Given the description of an element on the screen output the (x, y) to click on. 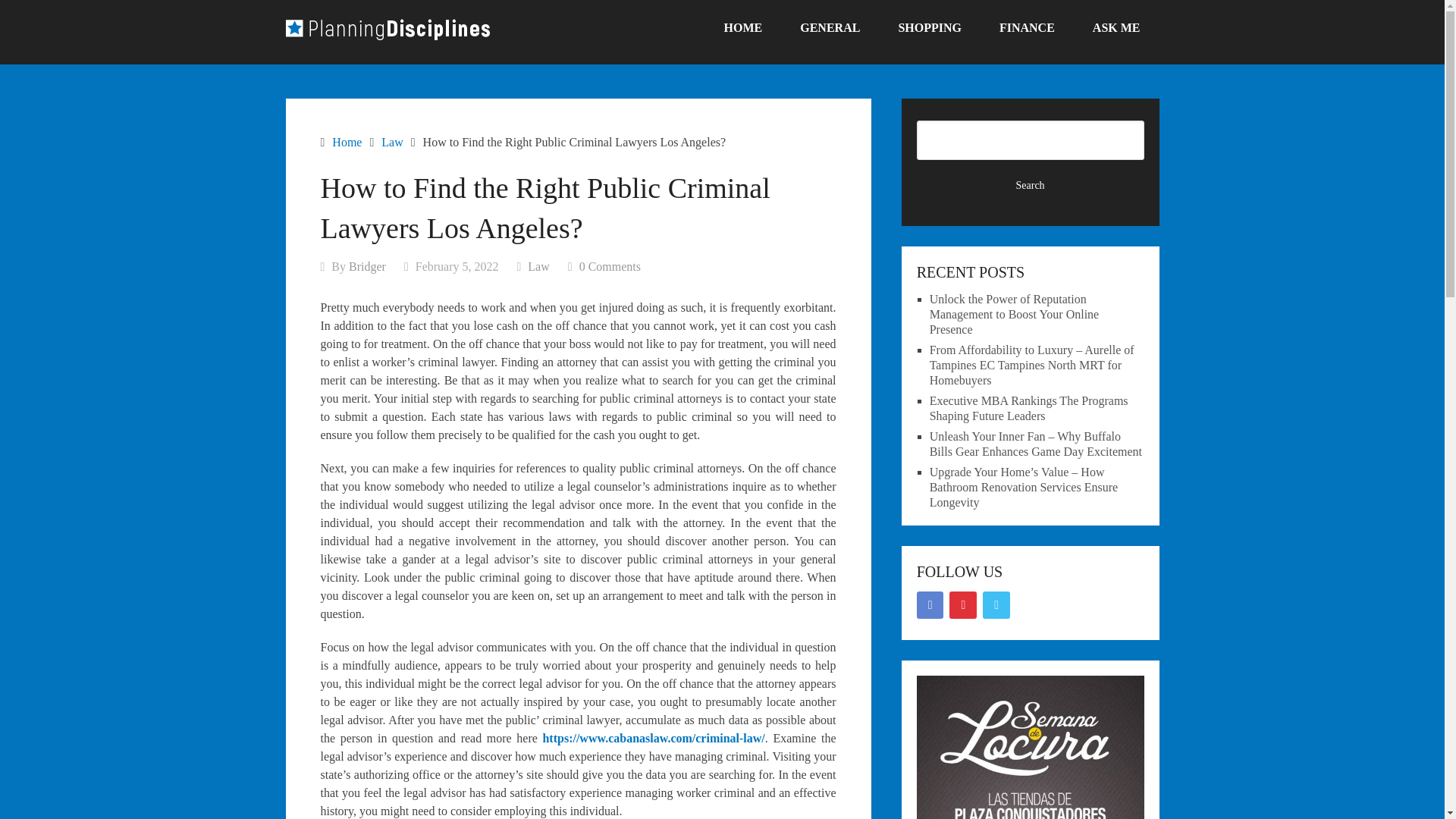
SHOPPING (929, 28)
Executive MBA Rankings The Programs Shaping Future Leaders (1029, 407)
FINANCE (1026, 28)
Bridger (367, 266)
ASK ME (1116, 28)
Twitter (996, 605)
0 Comments (609, 266)
Posts by Bridger (367, 266)
Facebook (930, 605)
Law (392, 141)
GENERAL (829, 28)
Pinterest (962, 605)
Search (1030, 185)
Law (537, 266)
